Given the description of an element on the screen output the (x, y) to click on. 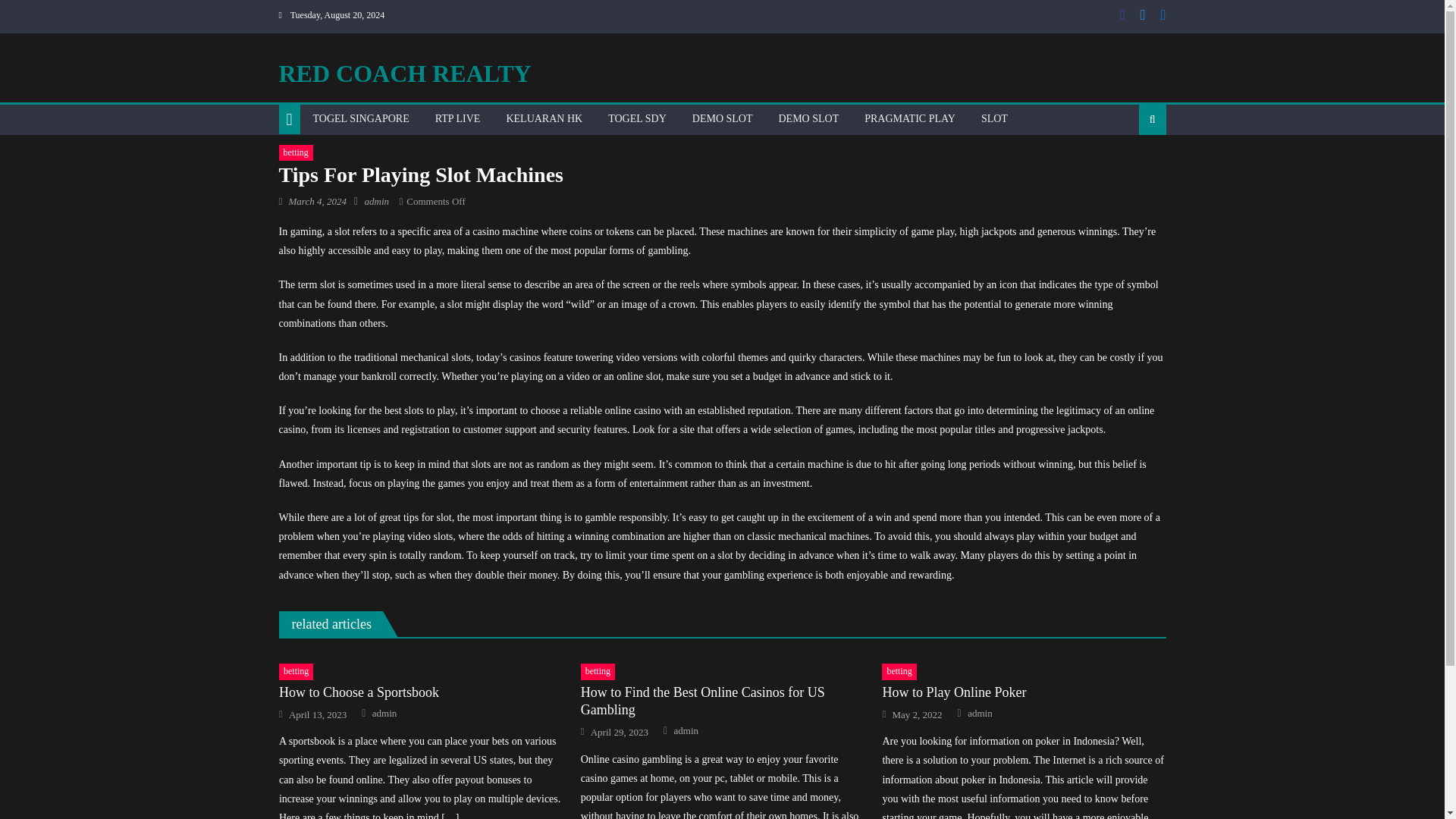
SLOT (994, 118)
DEMO SLOT (722, 118)
betting (296, 671)
admin (980, 713)
DEMO SLOT (808, 118)
May 2, 2022 (916, 714)
admin (384, 713)
KELUARAN HK (544, 118)
TOGEL SINGAPORE (360, 118)
PRAGMATIC PLAY (909, 118)
